Given the description of an element on the screen output the (x, y) to click on. 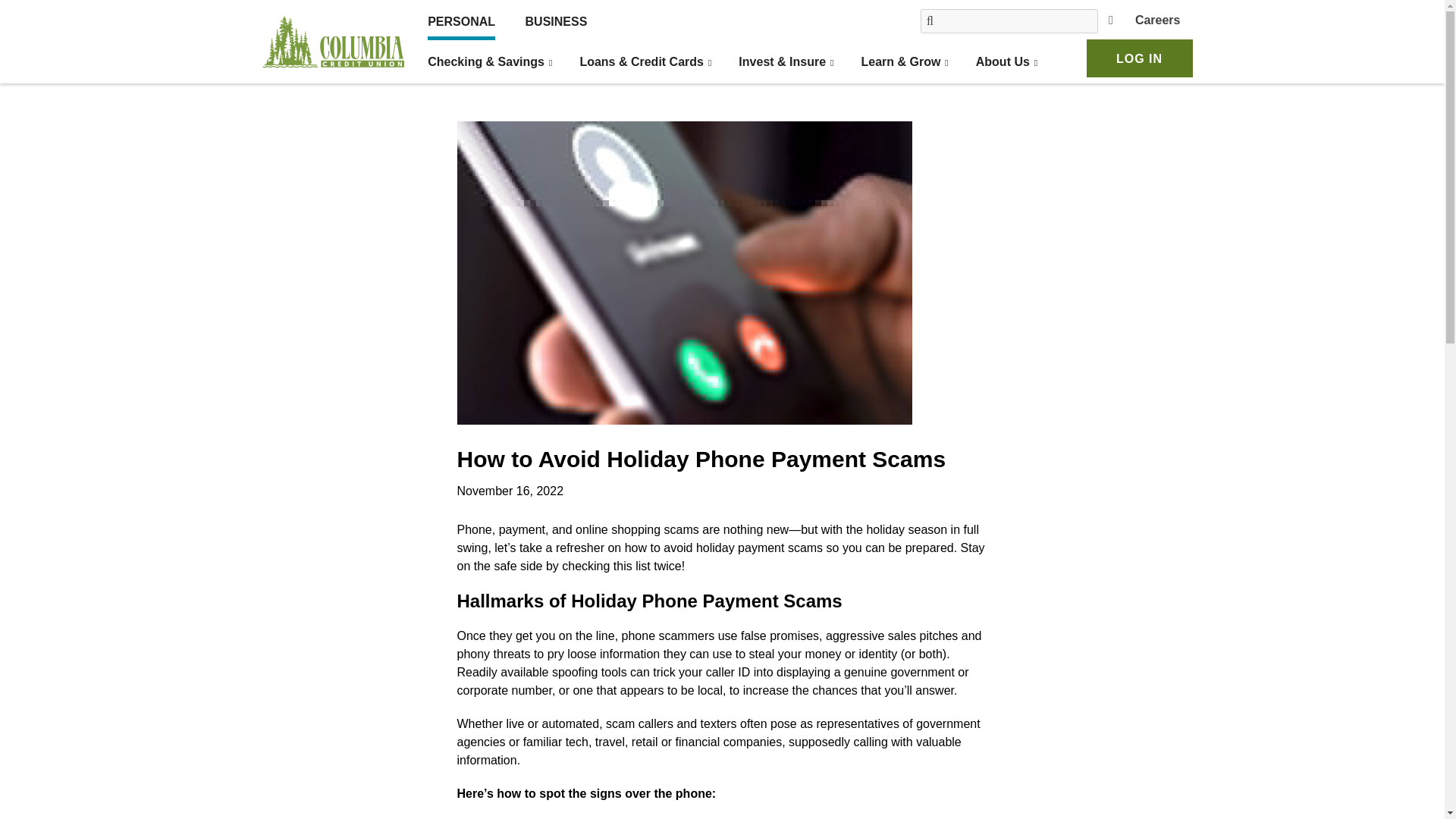
BUSINESS (556, 21)
PERSONAL (461, 21)
